Given the description of an element on the screen output the (x, y) to click on. 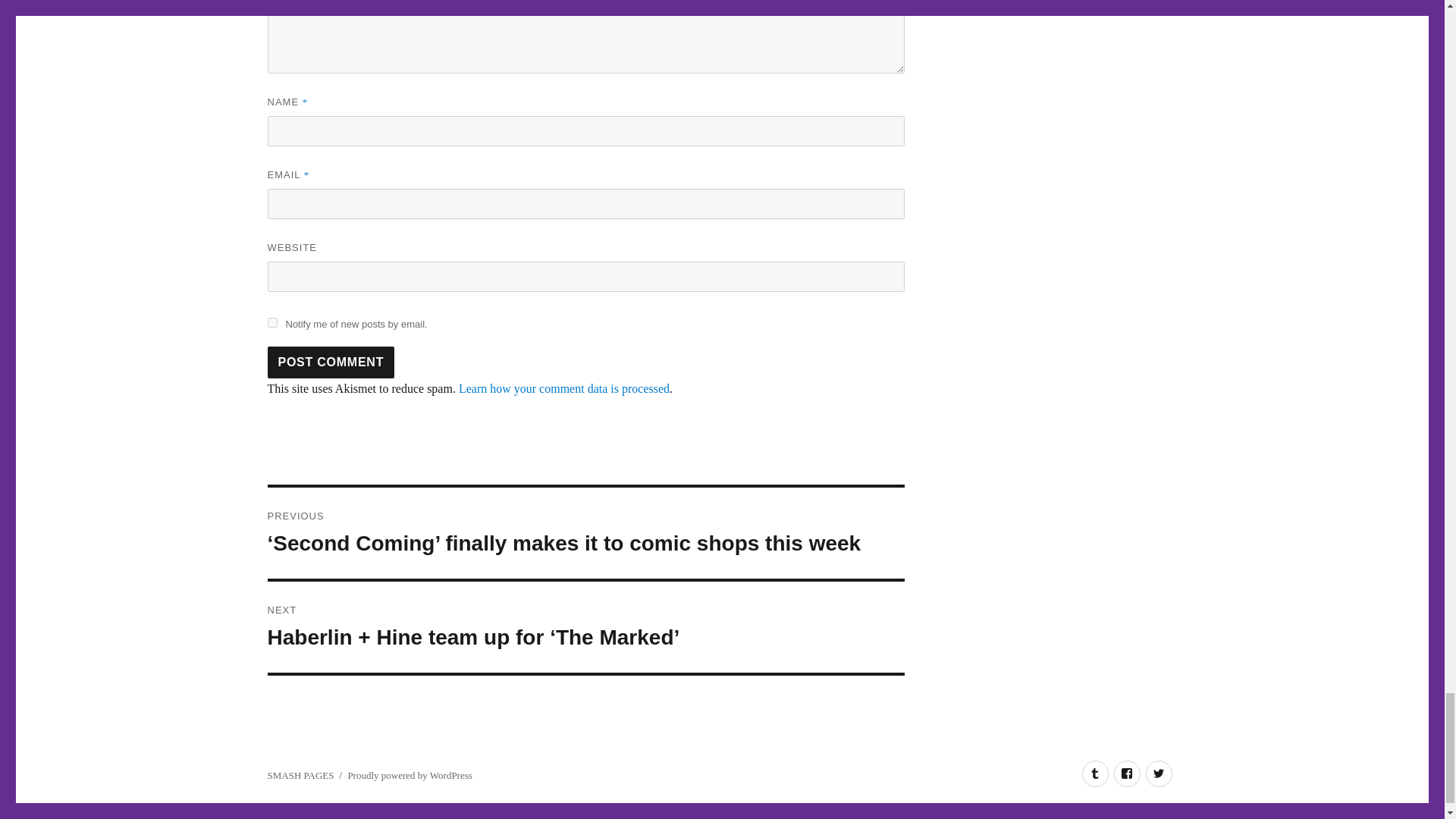
subscribe (271, 322)
Post Comment (330, 362)
Learn how your comment data is processed (563, 388)
Post Comment (330, 362)
